Given the description of an element on the screen output the (x, y) to click on. 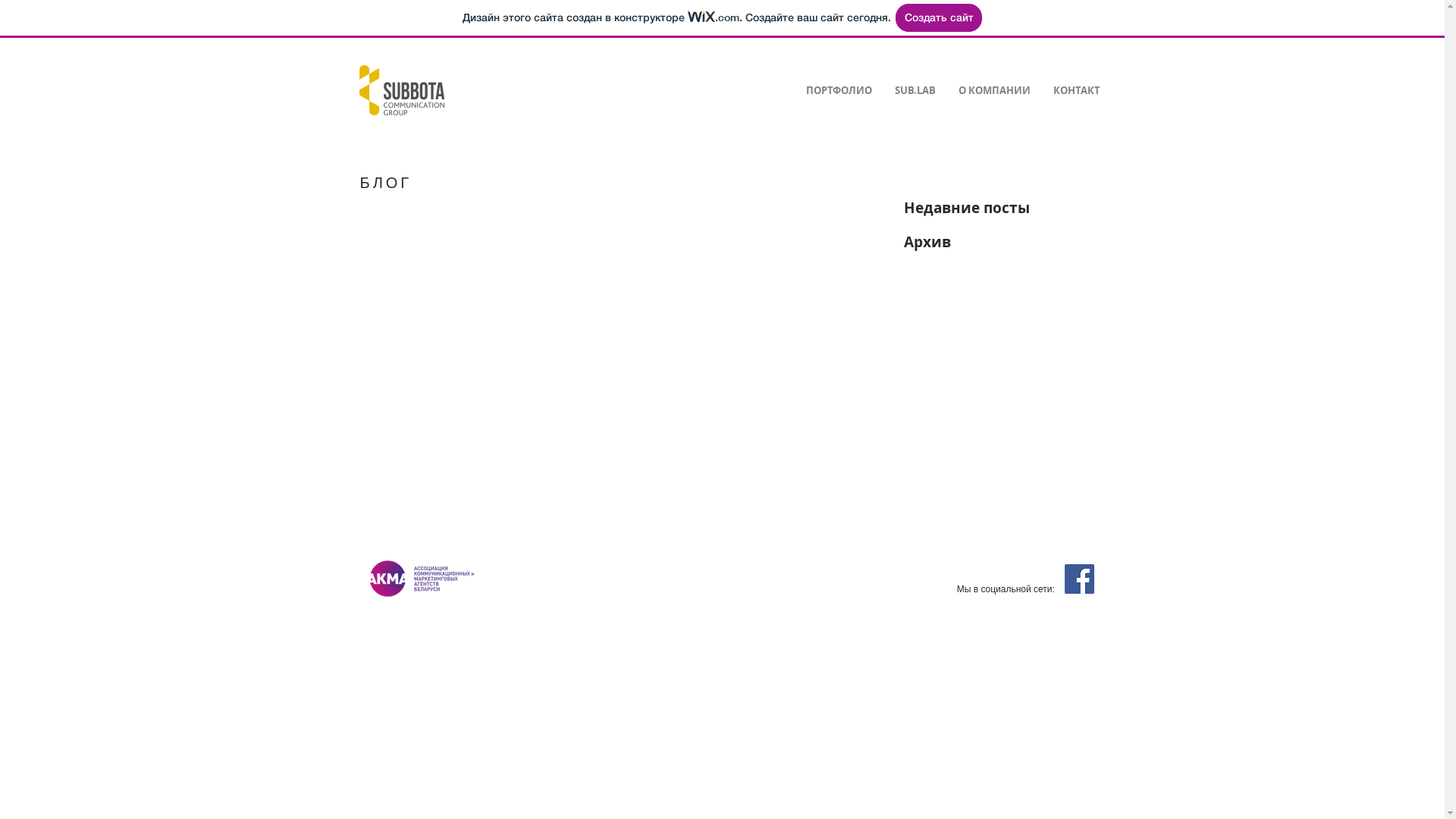
SUB.LAB Element type: text (915, 90)
